Given the description of an element on the screen output the (x, y) to click on. 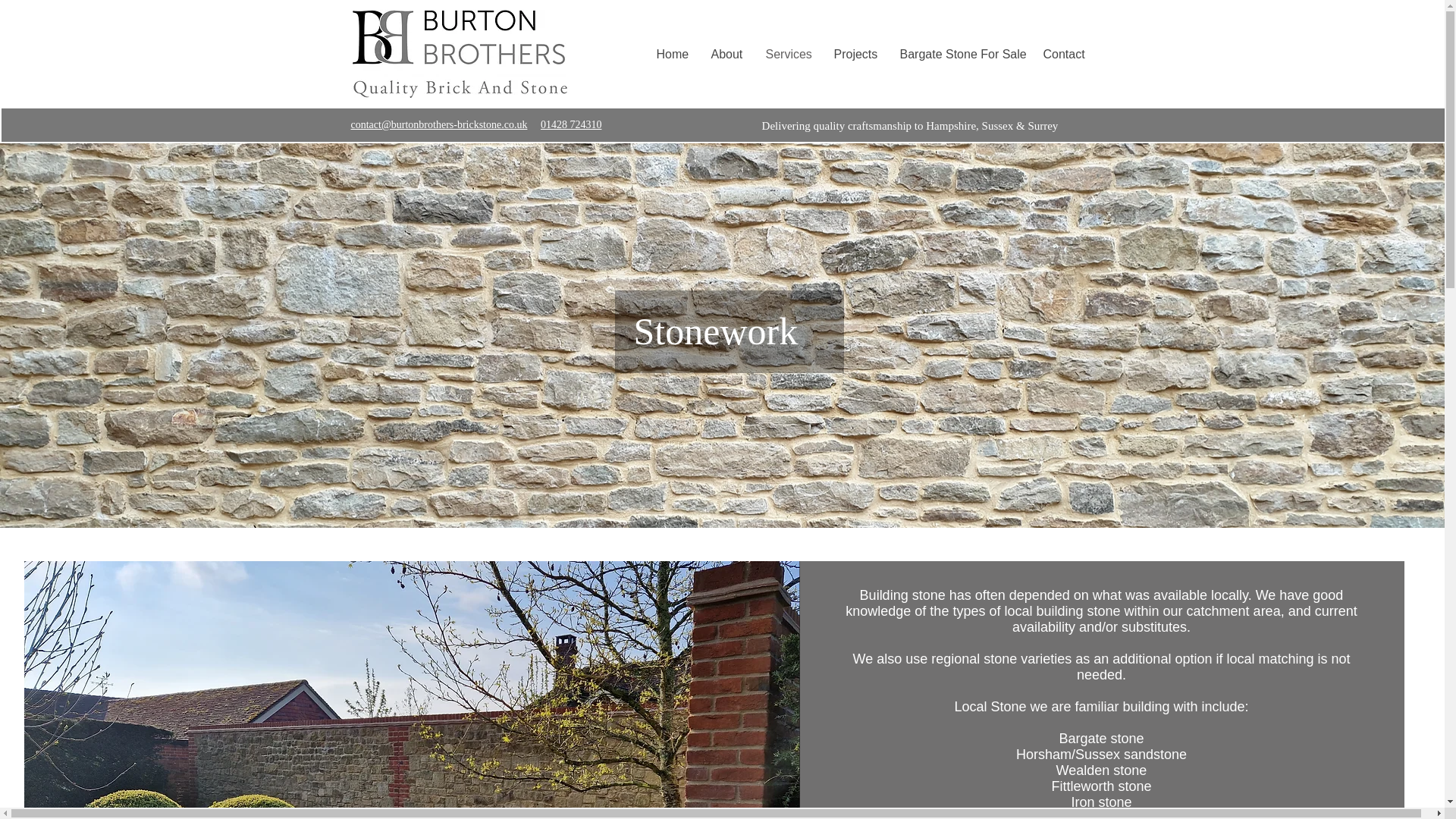
01428 724310 (571, 124)
Projects (854, 54)
Contact (1061, 54)
Services (787, 54)
Bargate Stone For Sale (959, 54)
About (725, 54)
Home (671, 54)
